Given the description of an element on the screen output the (x, y) to click on. 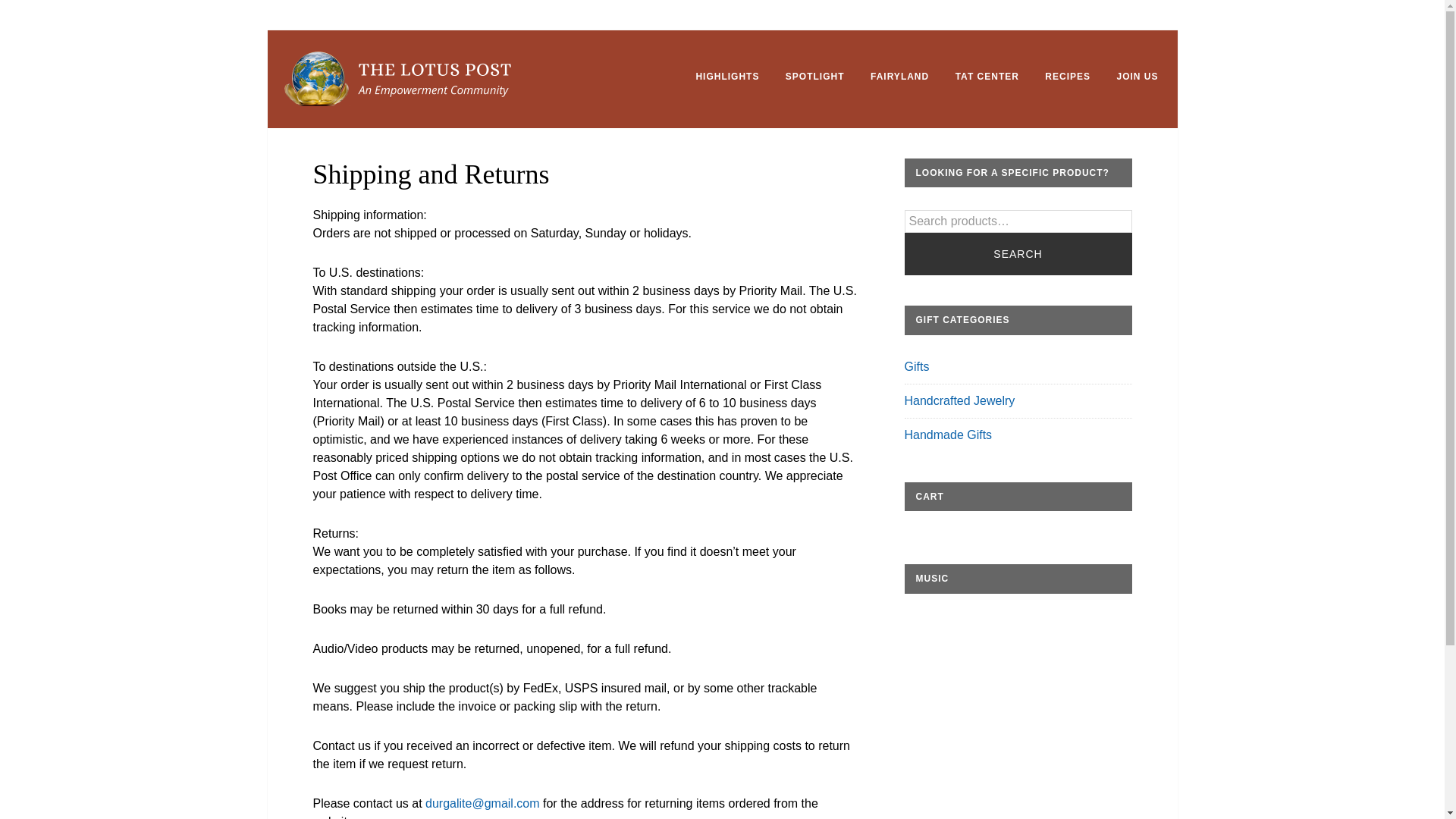
TAT CENTER (986, 76)
JOIN US (1137, 76)
Handcrafted Jewelry (959, 400)
RECIPES (1067, 76)
SEARCH (1017, 253)
HIGHLIGHTS (727, 76)
SPOTLIGHT (815, 76)
Gifts (916, 366)
FAIRYLAND (899, 76)
Handmade Gifts (947, 434)
